Given the description of an element on the screen output the (x, y) to click on. 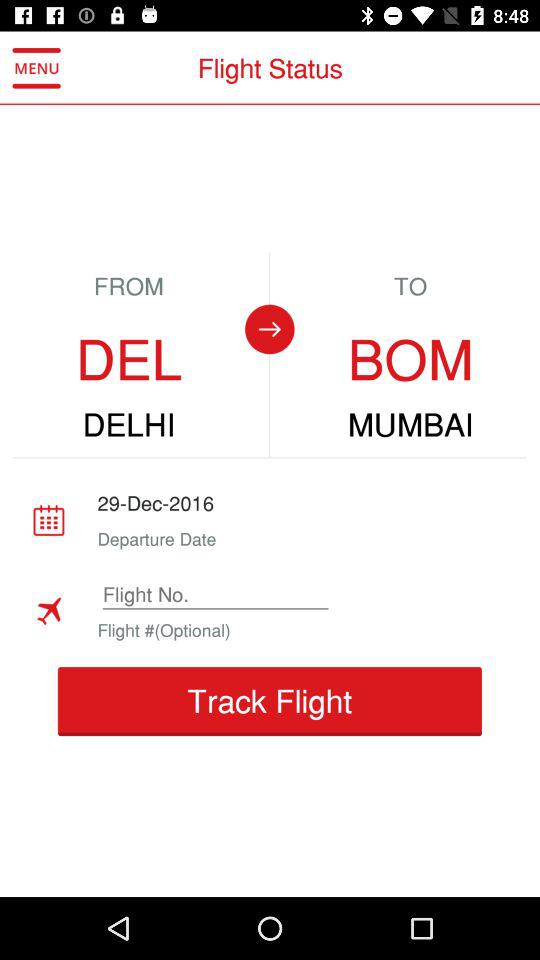
this button is to allow you to chang the to part of the flight (269, 329)
